Given the description of an element on the screen output the (x, y) to click on. 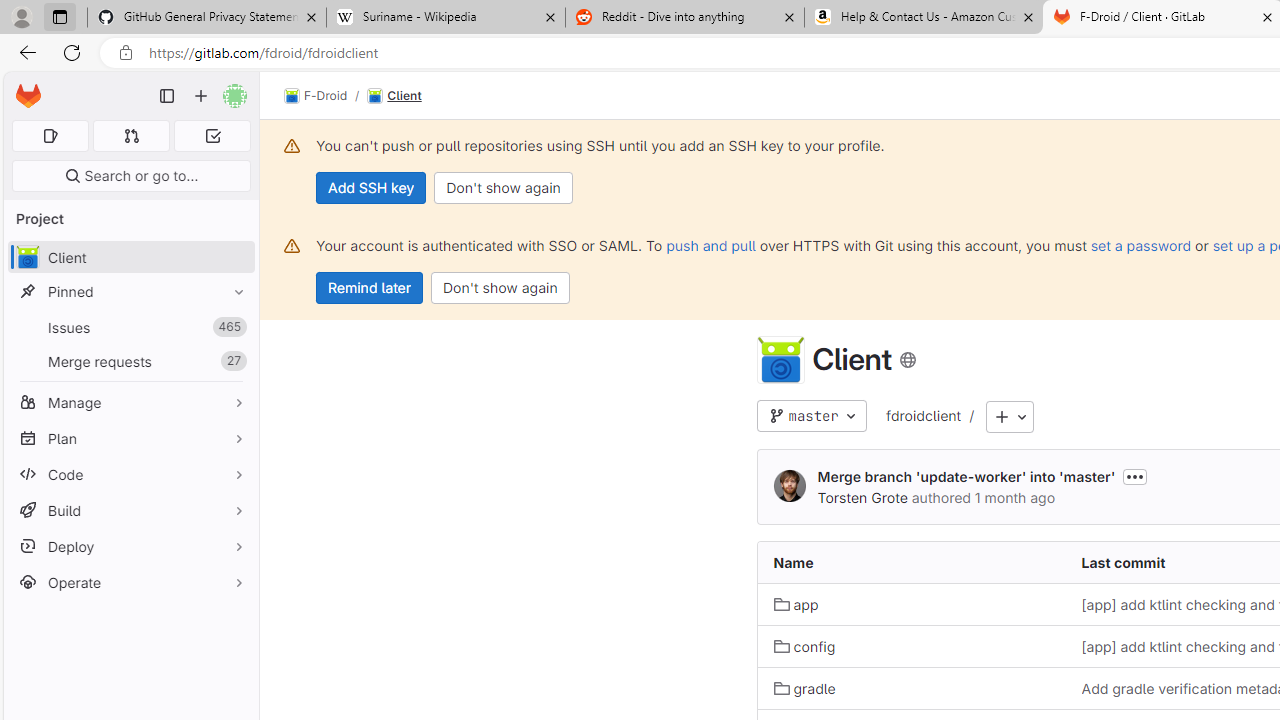
Deploy (130, 546)
To-Do list 0 (212, 136)
Code (130, 474)
push and pull (710, 245)
Merge branch 'update-worker' into 'master' (966, 476)
app (796, 605)
Class: s16 gl-alert-icon gl-alert-icon-no-title (291, 246)
Issues 465 (130, 327)
GitHub General Privacy Statement - GitHub Docs (207, 17)
Don't show again (500, 287)
Merge requests 27 (130, 361)
Build (130, 510)
Build (130, 510)
